Given the description of an element on the screen output the (x, y) to click on. 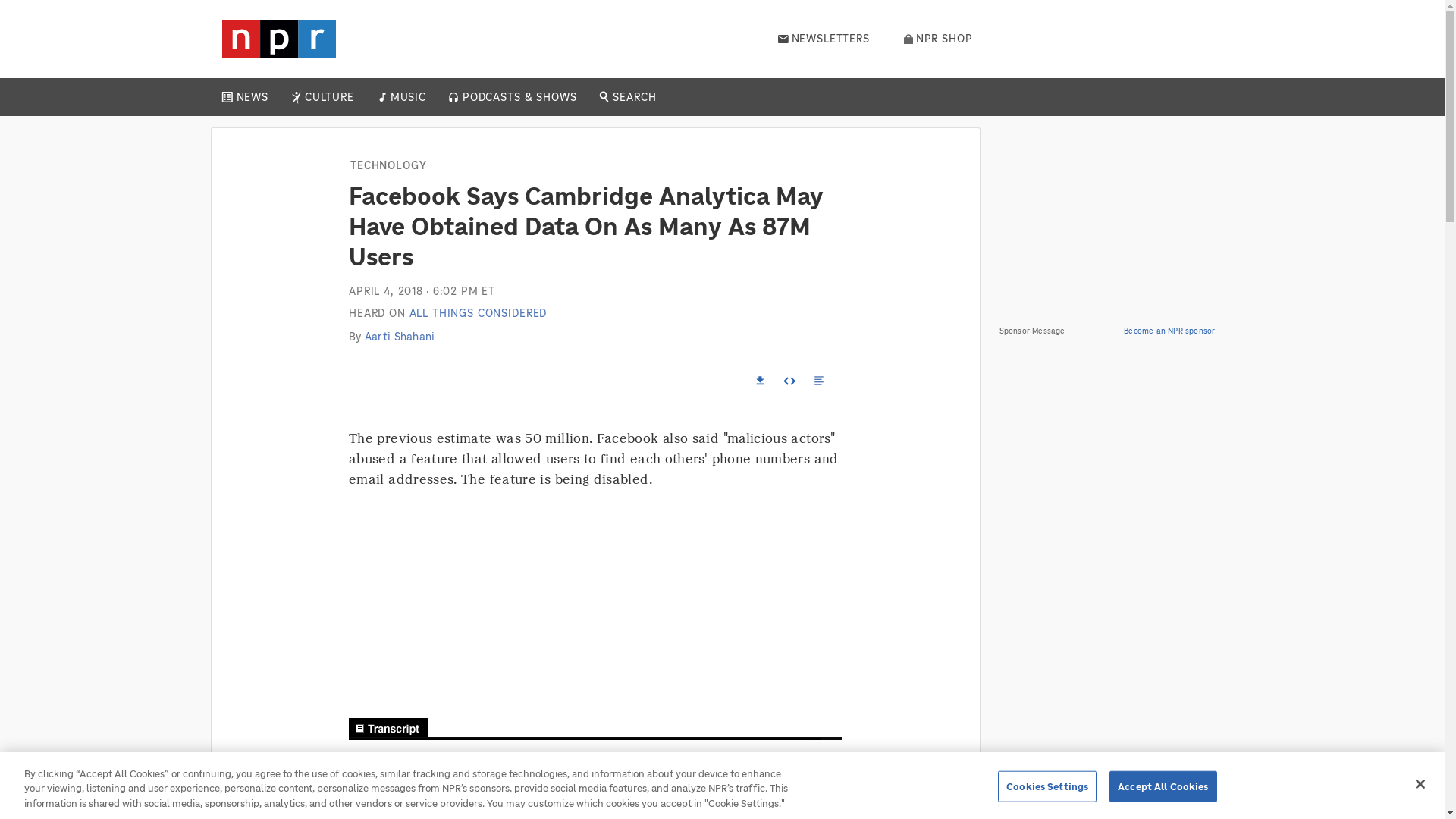
MUSIC (407, 96)
NEWS (251, 96)
CULTURE (328, 96)
NEWSLETTERS (823, 38)
NPR SHOP (938, 38)
